Given the description of an element on the screen output the (x, y) to click on. 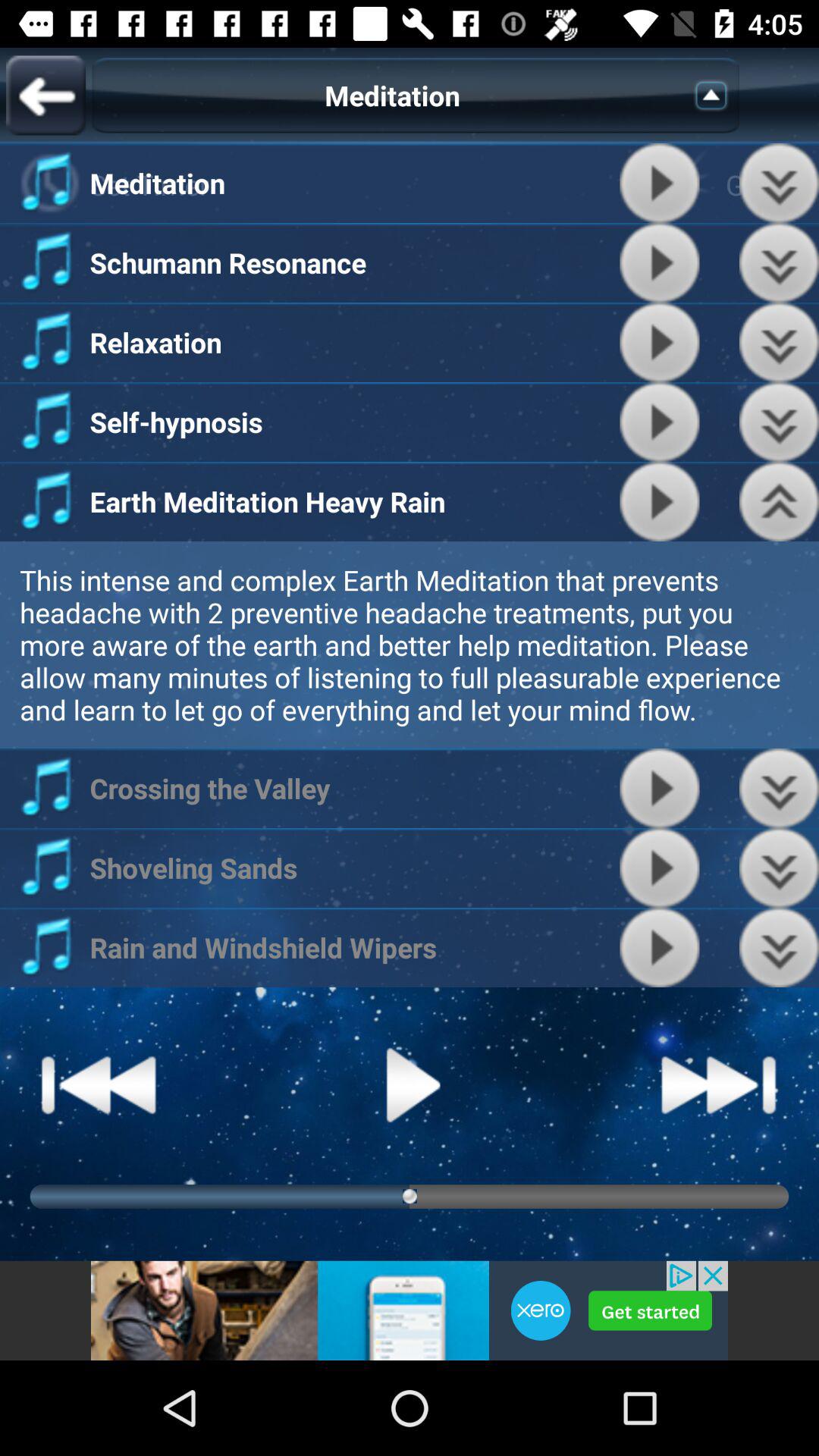
select the advertisement (409, 1310)
